Given the description of an element on the screen output the (x, y) to click on. 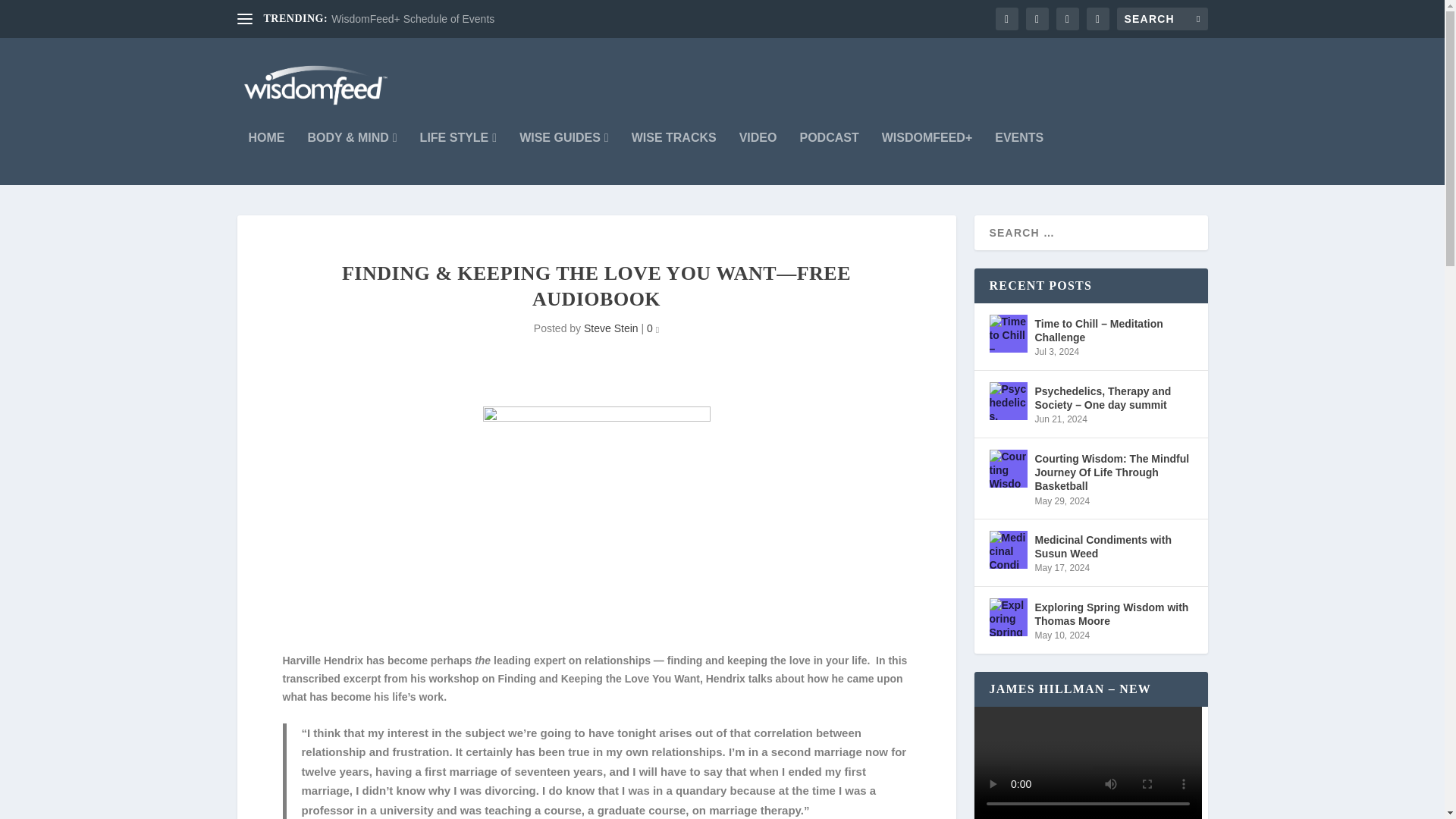
LIFE STYLE (458, 158)
Posts by Steve Stein (611, 328)
Search for: (1161, 18)
WISE GUIDES (563, 158)
